Given the description of an element on the screen output the (x, y) to click on. 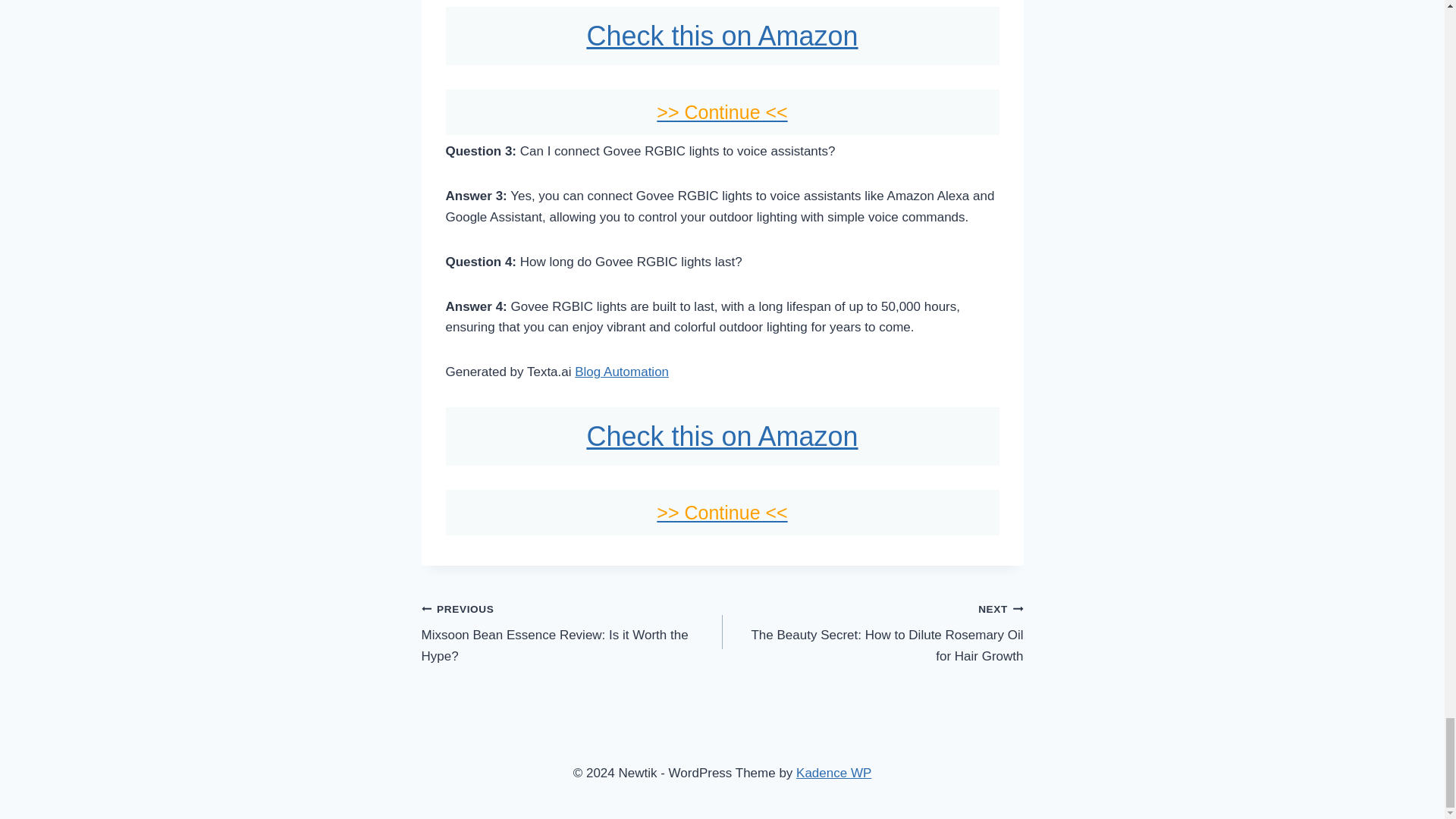
Blog Automation (572, 632)
